Given the description of an element on the screen output the (x, y) to click on. 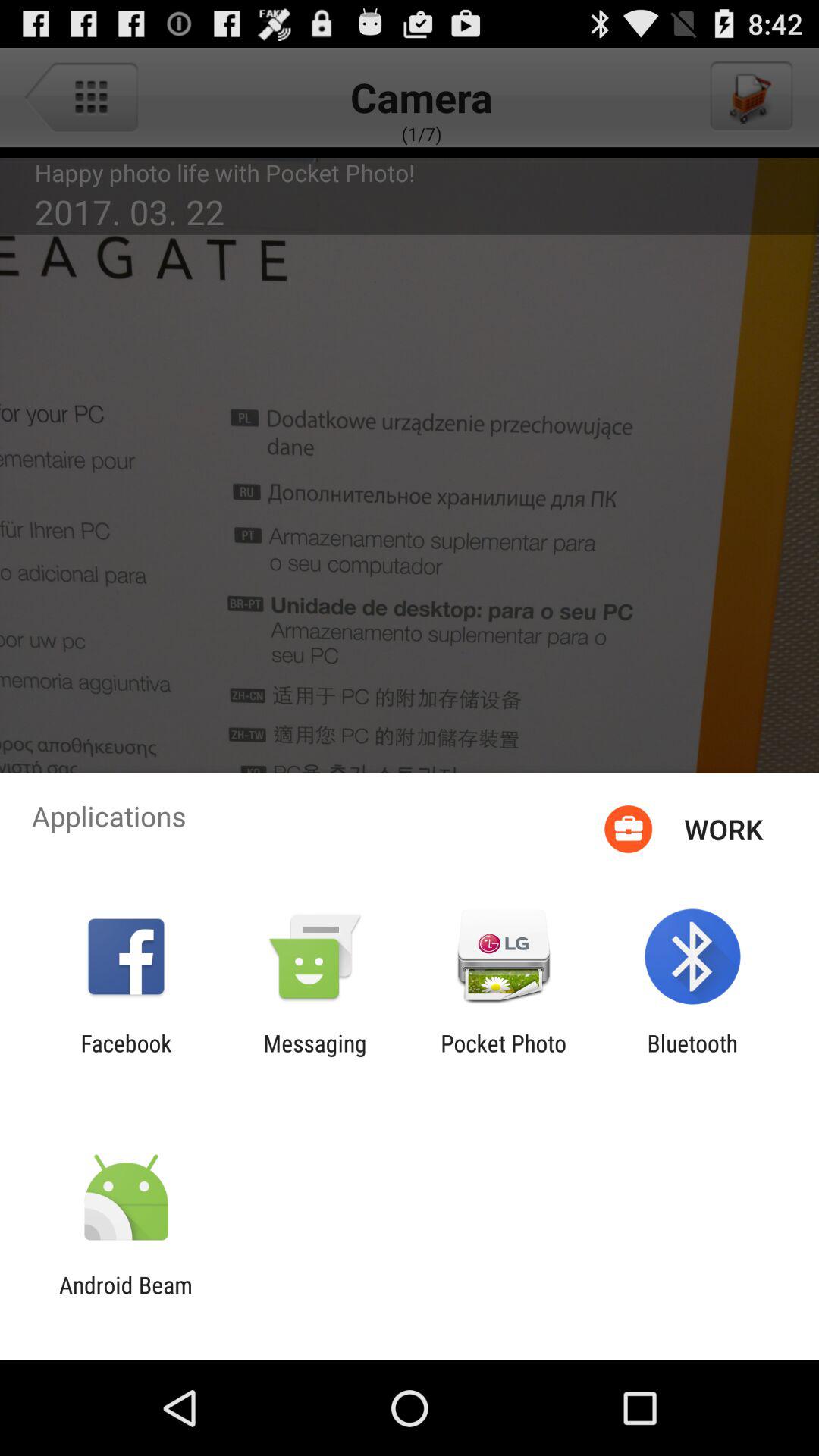
select item next to the messaging app (503, 1056)
